Given the description of an element on the screen output the (x, y) to click on. 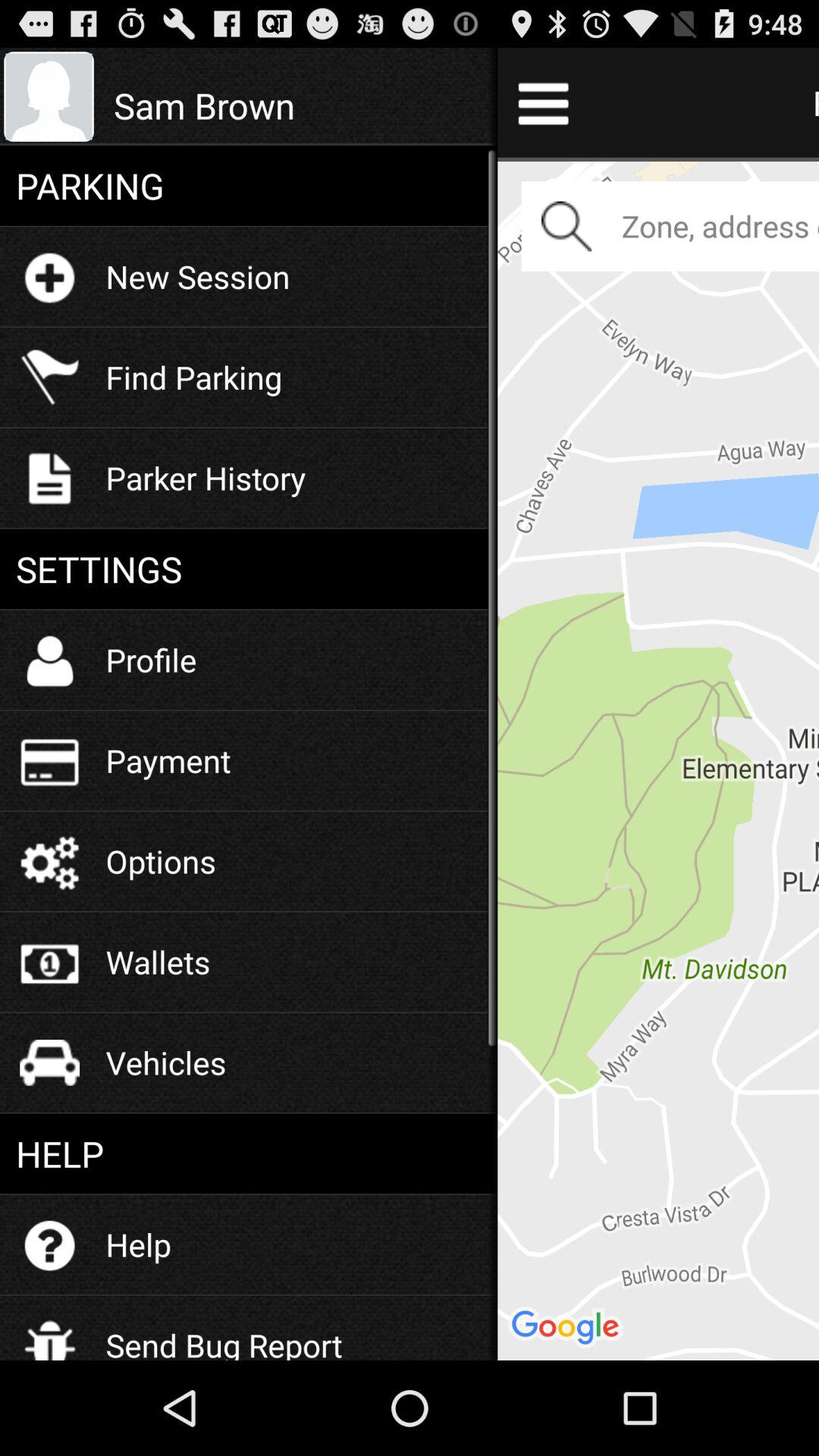
launch the vehicles (165, 1061)
